Given the description of an element on the screen output the (x, y) to click on. 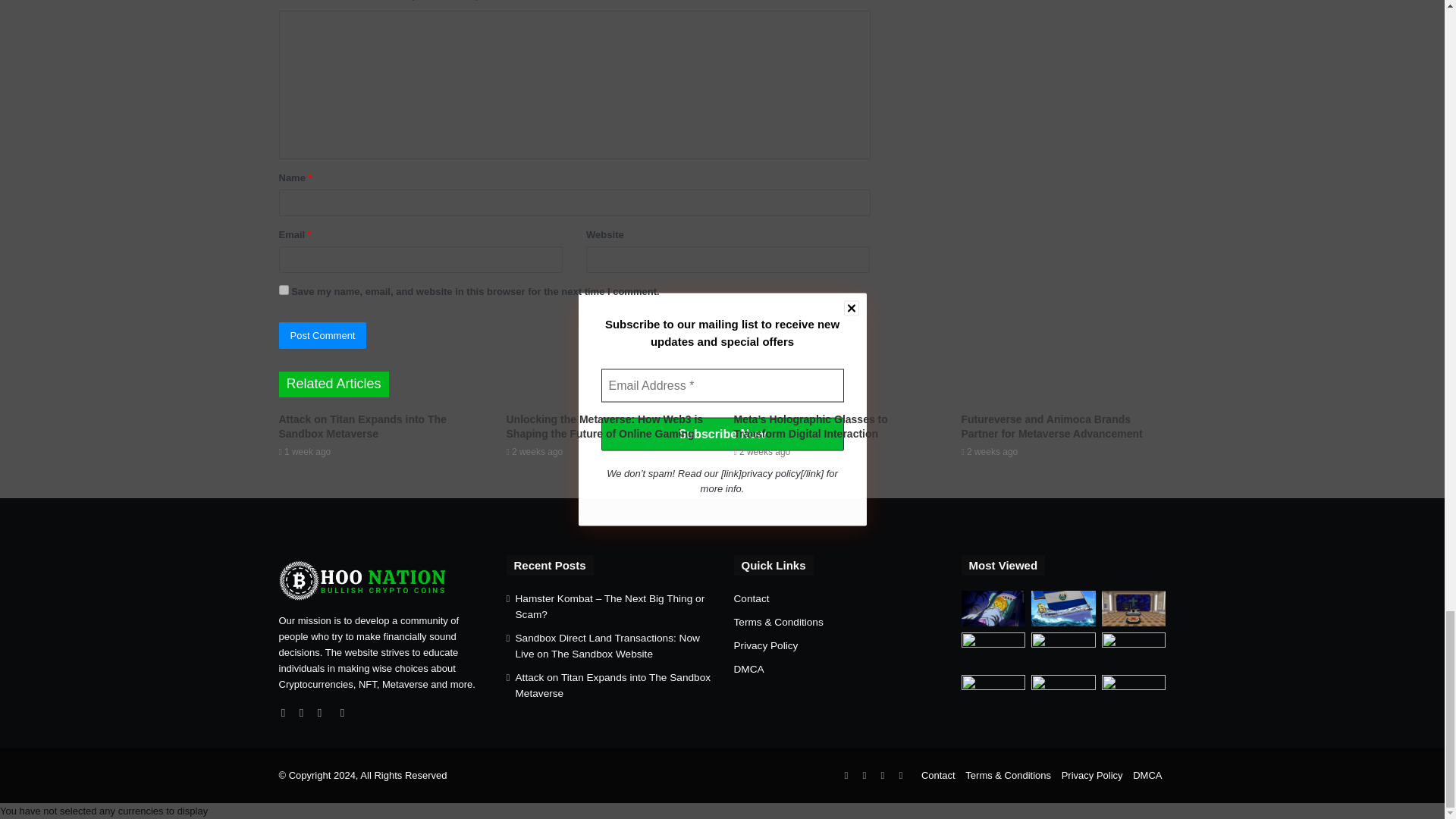
yes (283, 289)
Post Comment (322, 335)
